Given the description of an element on the screen output the (x, y) to click on. 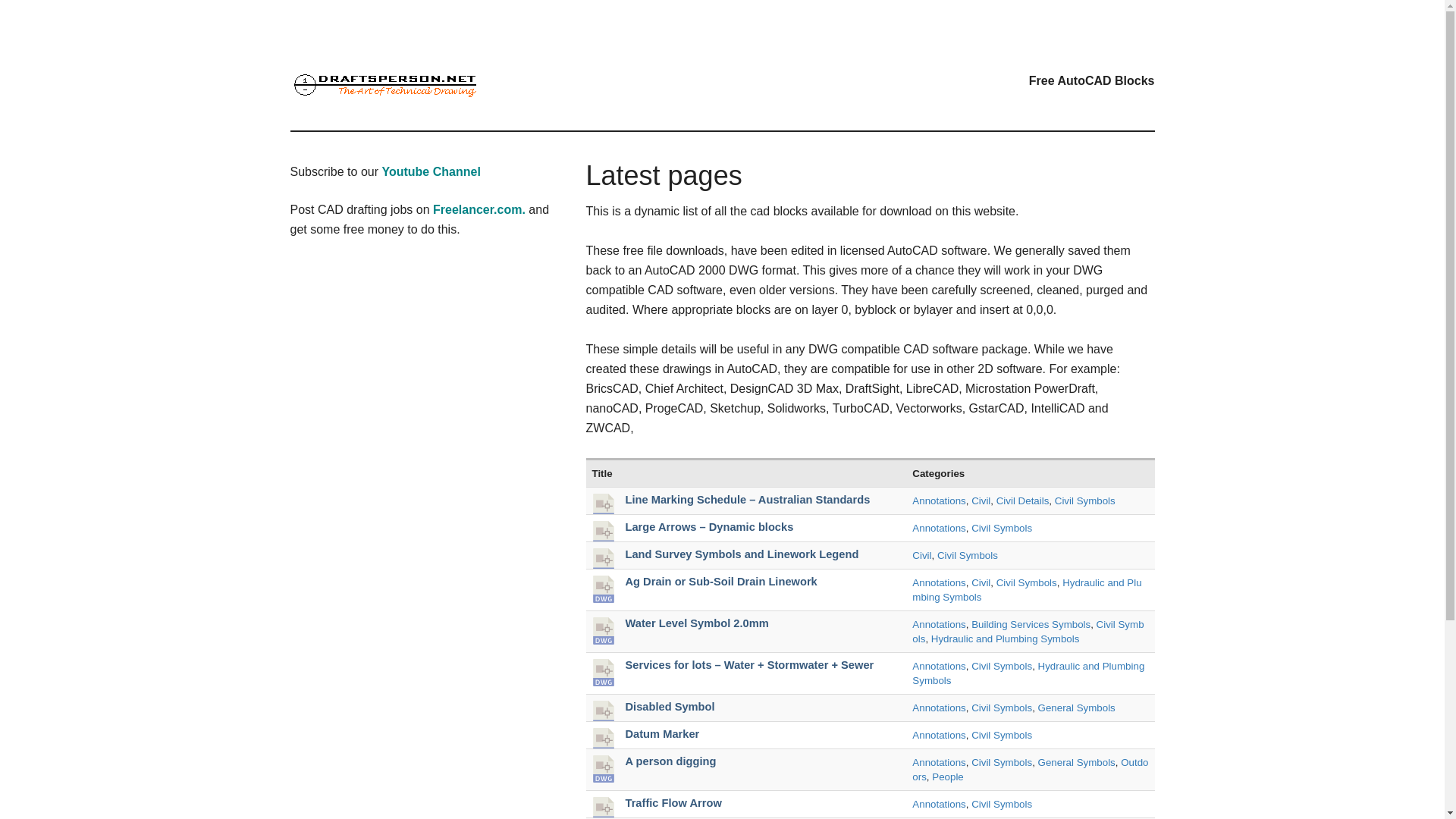
Building Services Symbols (1030, 624)
Civil Symbols (1001, 665)
Annotations (938, 527)
Hydraulic and Plumbing Symbols (1026, 589)
General Symbols (1076, 707)
Annotations (938, 624)
Civil (921, 555)
Datum Marker (661, 734)
Annotations (938, 707)
A person digging (670, 761)
Civil Symbols (967, 555)
Hydraulic and Plumbing Symbols (1005, 638)
Annotations (938, 735)
Land Survey Symbols and Linework Legend (741, 553)
